Given the description of an element on the screen output the (x, y) to click on. 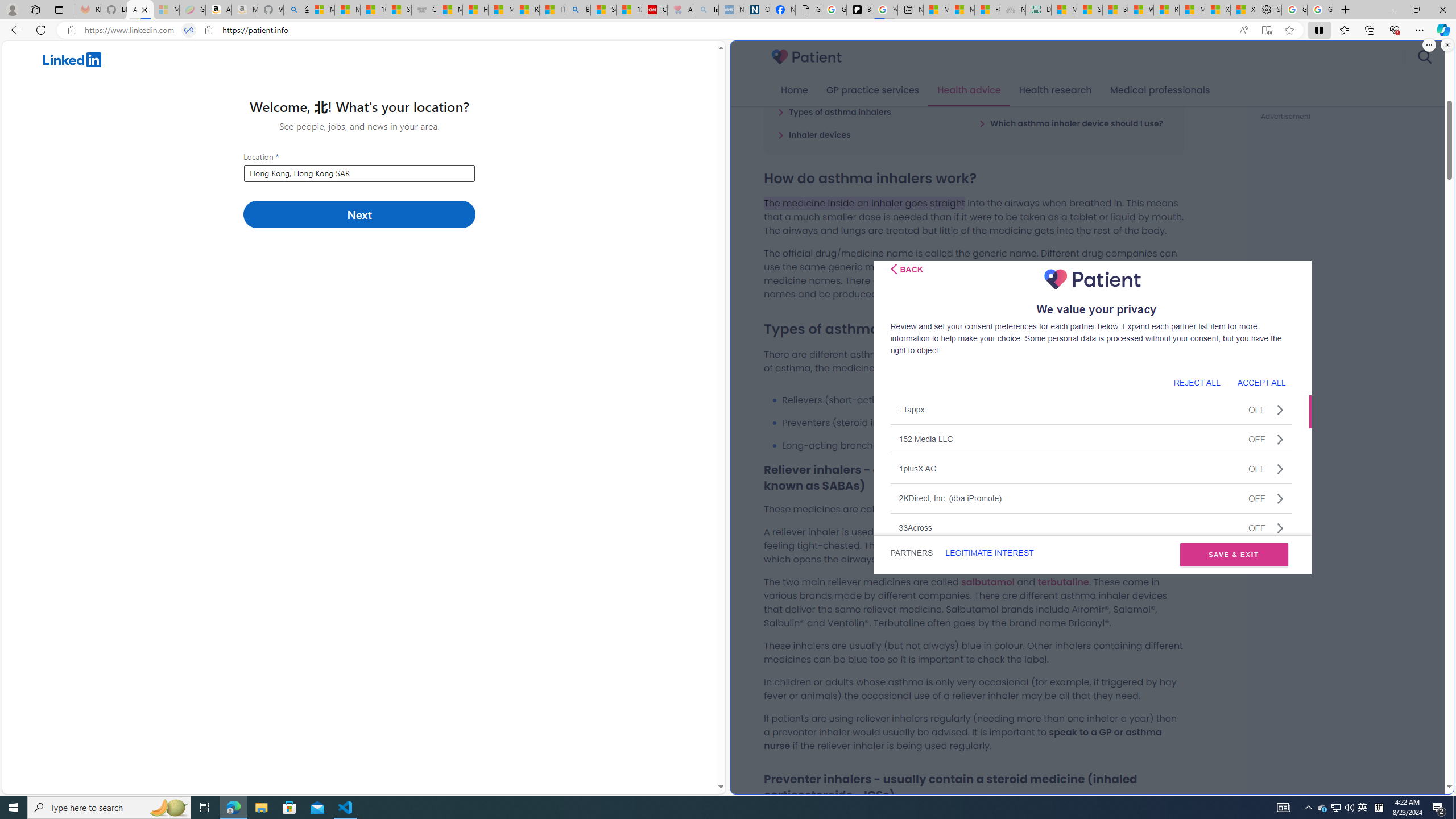
New tab (910, 9)
Types of asthma inhalers (834, 111)
Navy Quest (1012, 9)
GP practice services (872, 90)
Publisher Logo (1092, 278)
Settings and more (Alt+F) (1419, 29)
Tabs in split screen (189, 29)
Long-acting bronchodilators. (983, 445)
Microsoft Start (1191, 9)
Microsoft-Report a Concern to Bing - Sleeping (166, 9)
Relievers (short-acting bronchodilators). (983, 400)
152 Media LLCOFF (1090, 438)
list of asthma inhalers uk - Search - Sleeping (705, 9)
